Given the description of an element on the screen output the (x, y) to click on. 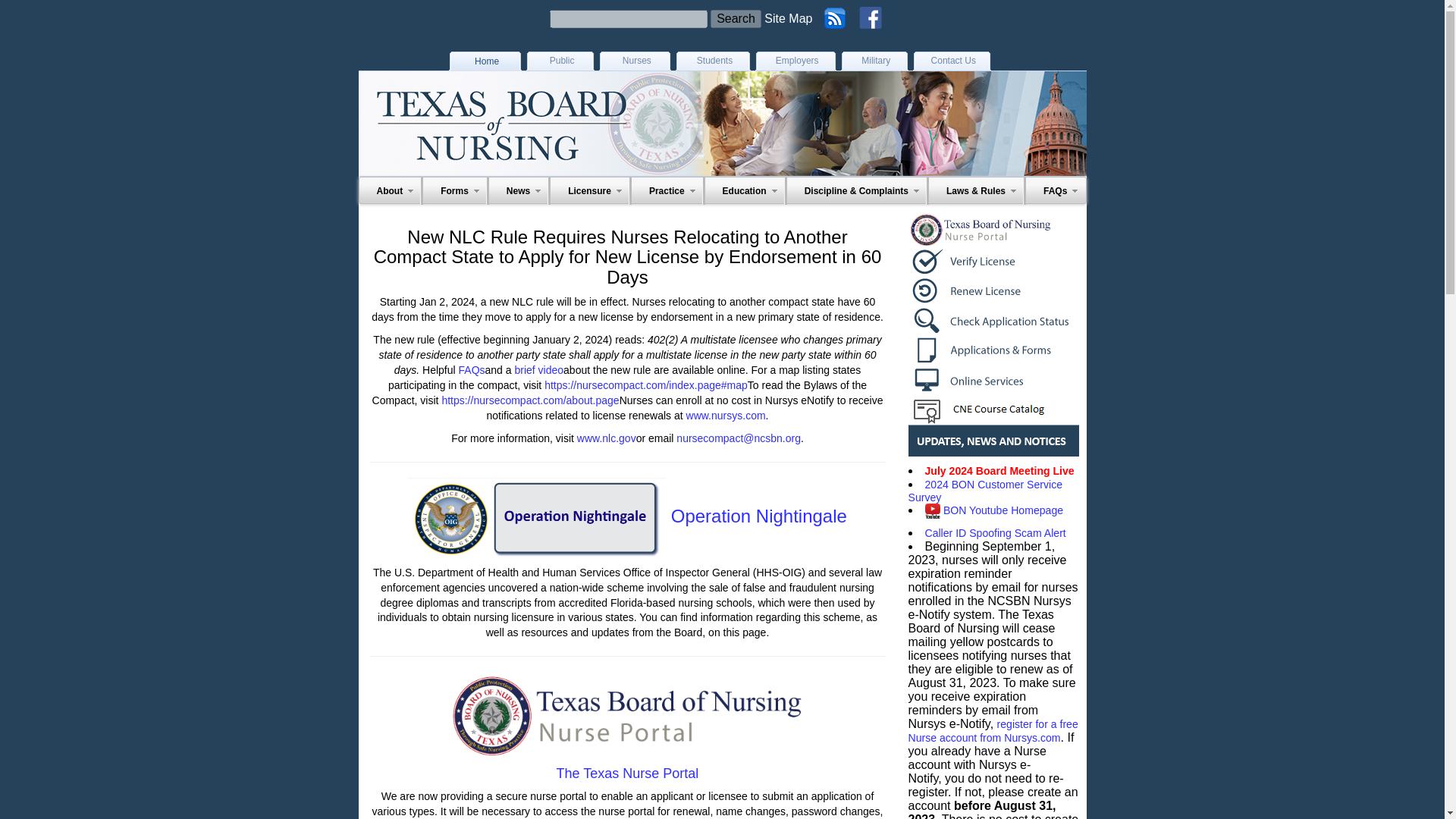
  Public   (559, 60)
Site Map (788, 18)
  Nurses   (634, 60)
 Military  (874, 60)
   Home    (484, 61)
Contact Us (951, 60)
Search (735, 18)
About (389, 190)
 Students  (712, 60)
Search (628, 18)
Search (735, 18)
 Employers  (795, 60)
Forms (454, 190)
